Given the description of an element on the screen output the (x, y) to click on. 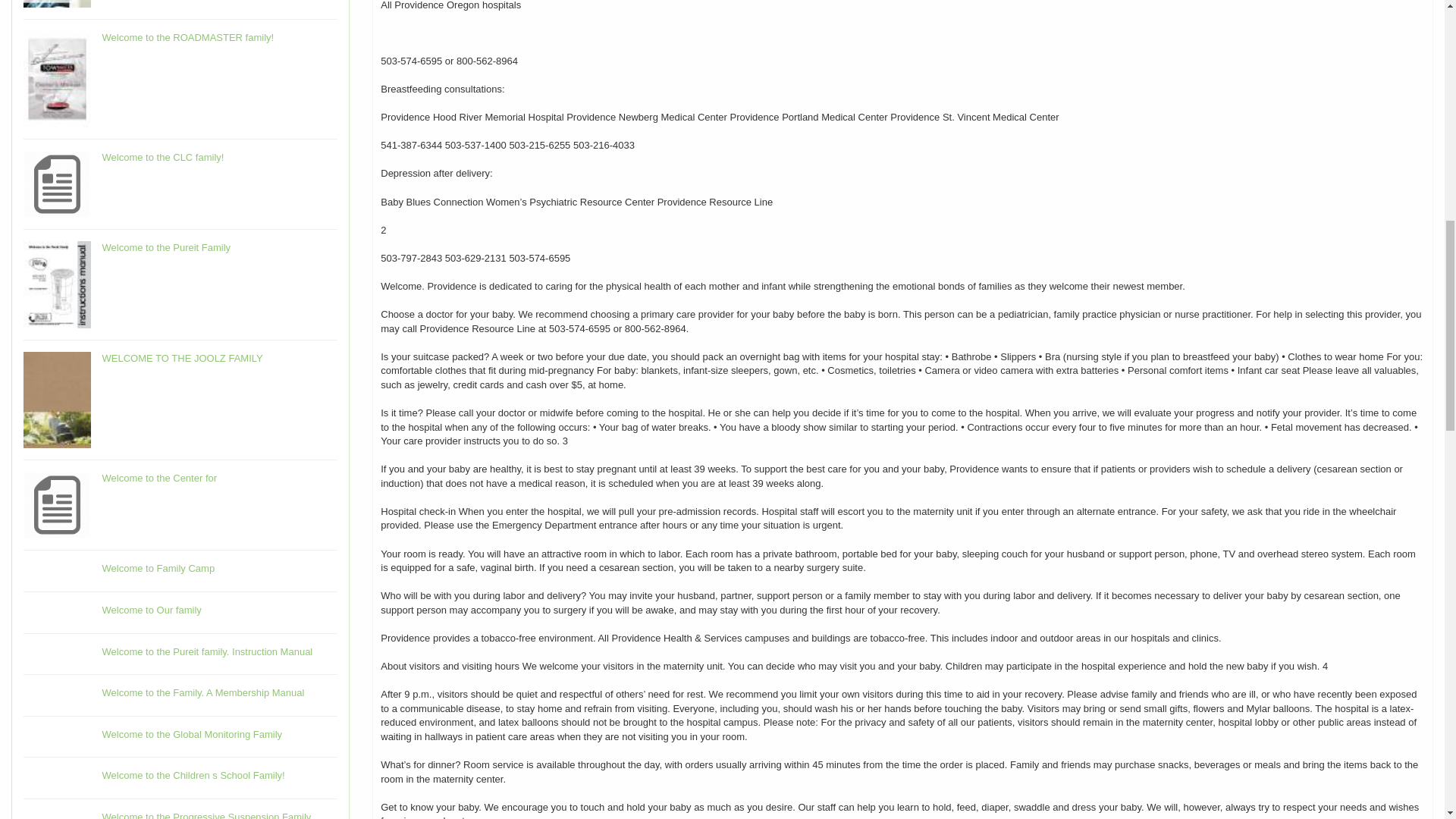
Welcome to the ROADMASTER family! (188, 37)
Welcome to the Family. A Membership Manual (202, 692)
Welcome to the CLC family! (162, 156)
Welcome to the Pureit Family (166, 247)
Welcome to Our family (151, 609)
Welcome to Family Camp (158, 568)
Welcome to the Pureit family. Instruction Manual (207, 651)
WELCOME TO THE JOOLZ FAMILY (182, 357)
Welcome to the Center for (158, 478)
